Given the description of an element on the screen output the (x, y) to click on. 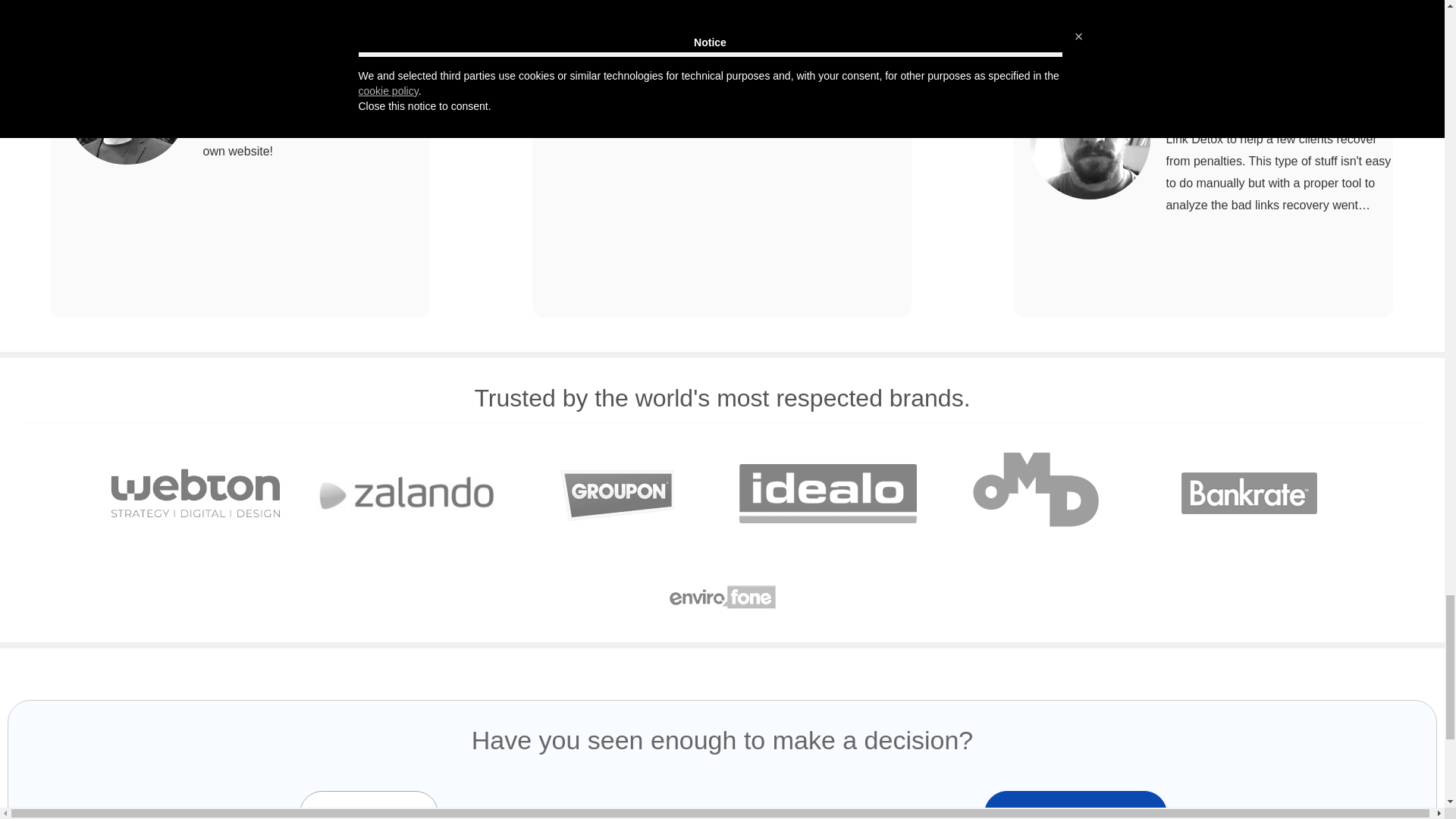
What our users say (239, 158)
